Given the description of an element on the screen output the (x, y) to click on. 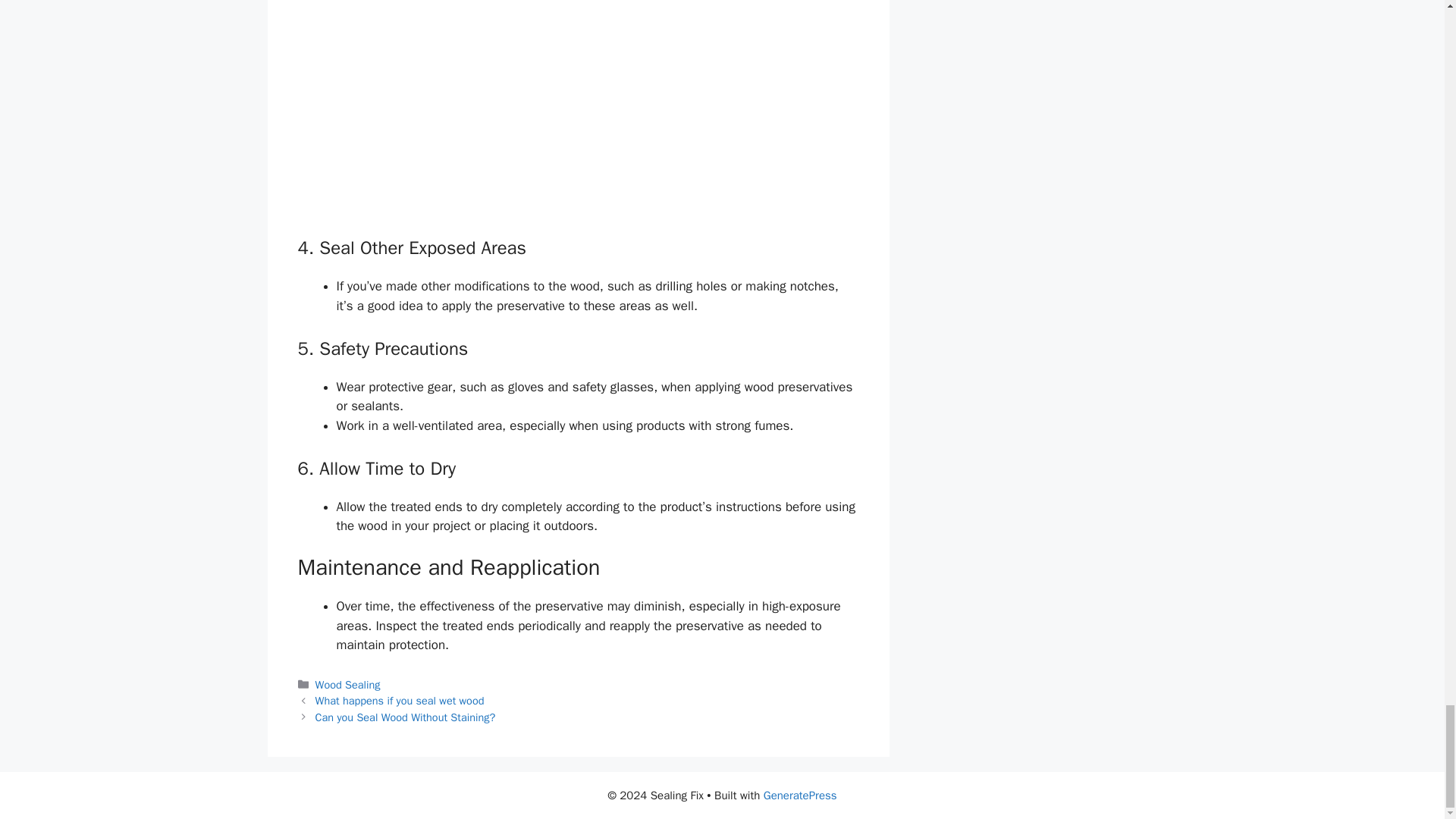
Can you Seal Wood Without Staining? (405, 716)
Wood Sealing (347, 684)
Pressure-Treated Wood Preservative Tip (578, 117)
What happens if you seal wet wood (399, 700)
GeneratePress (799, 795)
